Given the description of an element on the screen output the (x, y) to click on. 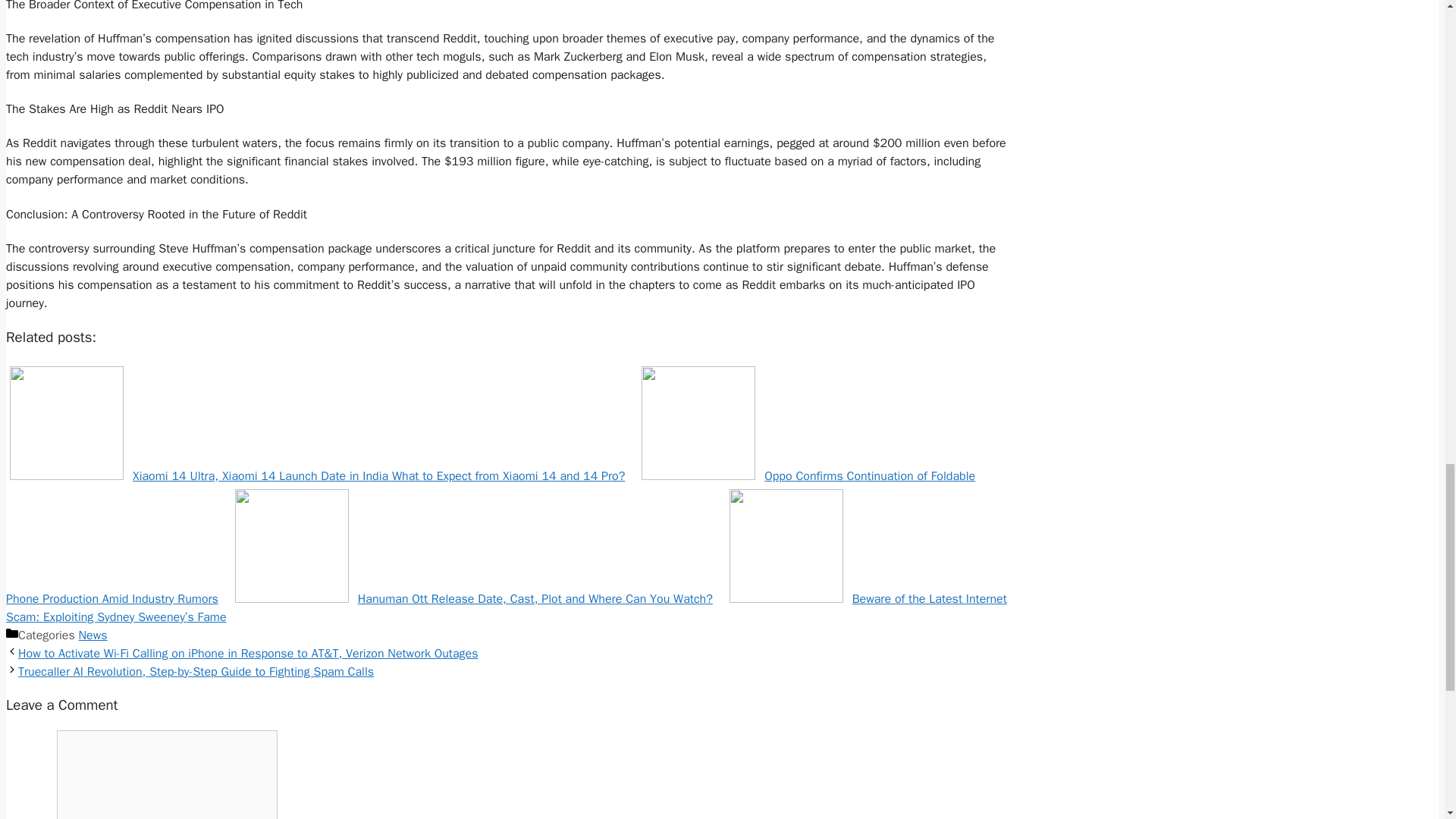
News (92, 635)
